Given the description of an element on the screen output the (x, y) to click on. 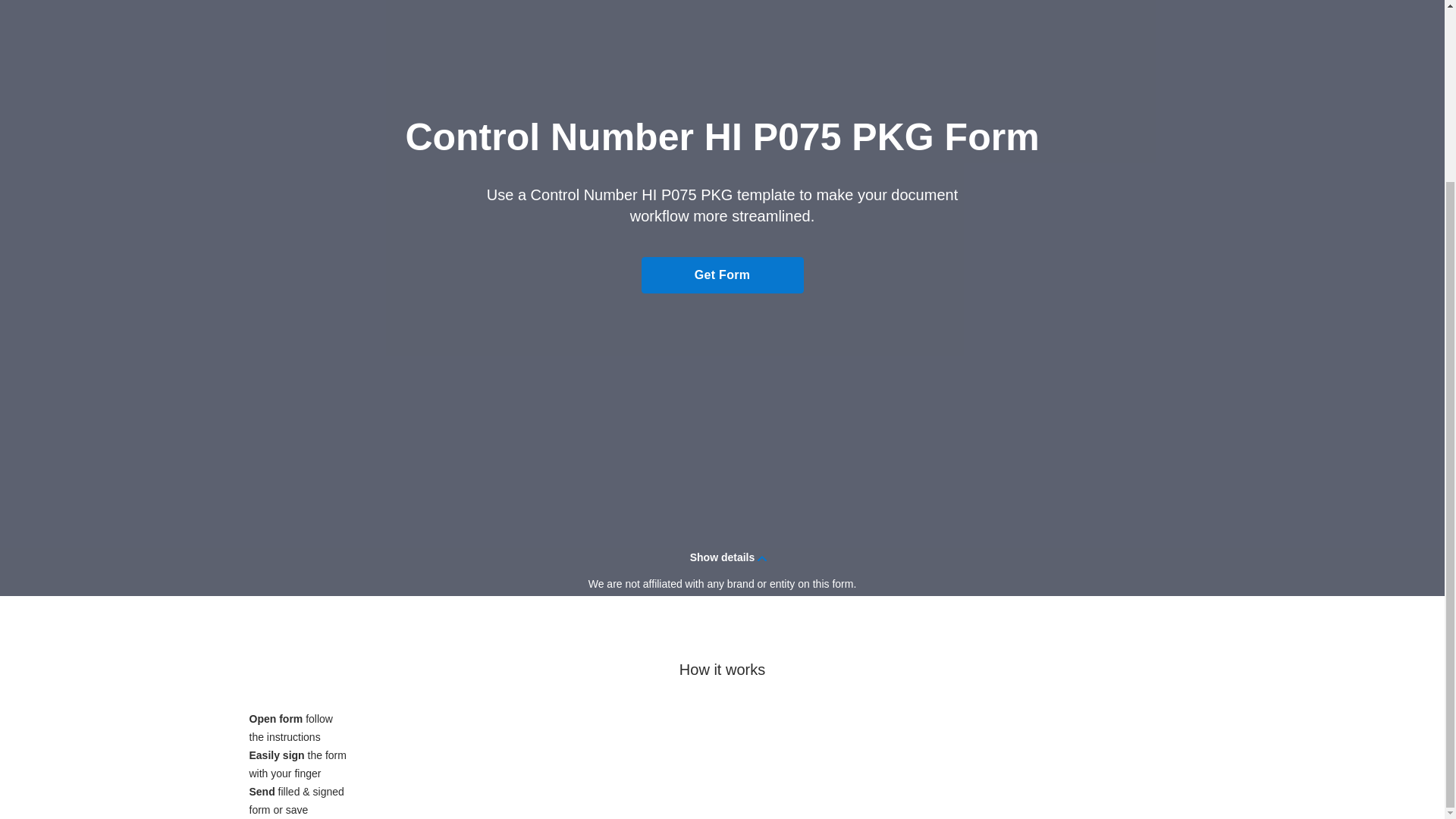
Show details (722, 557)
Get Form (722, 275)
